Given the description of an element on the screen output the (x, y) to click on. 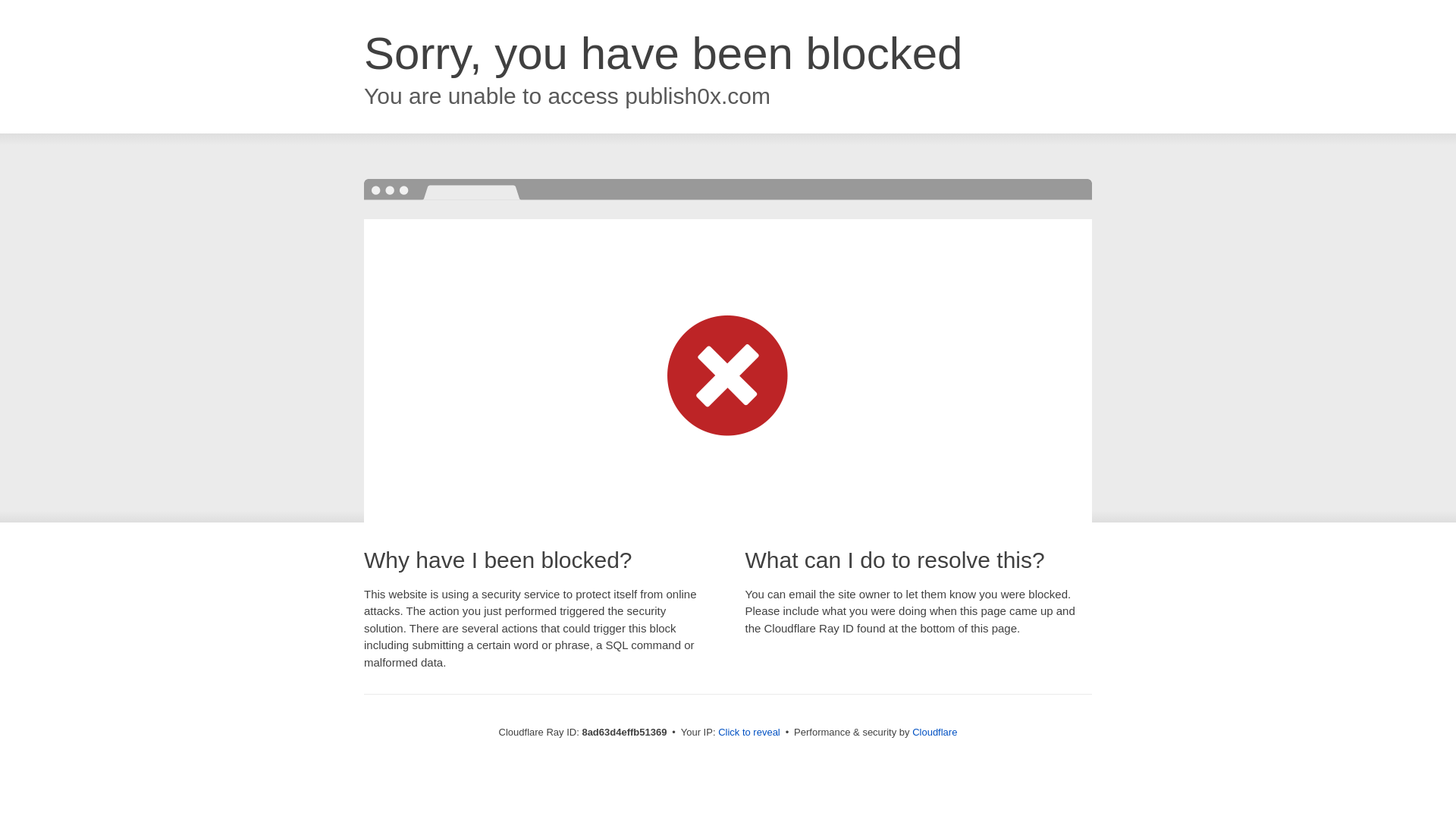
Click to reveal (748, 732)
Cloudflare (934, 731)
